Given the description of an element on the screen output the (x, y) to click on. 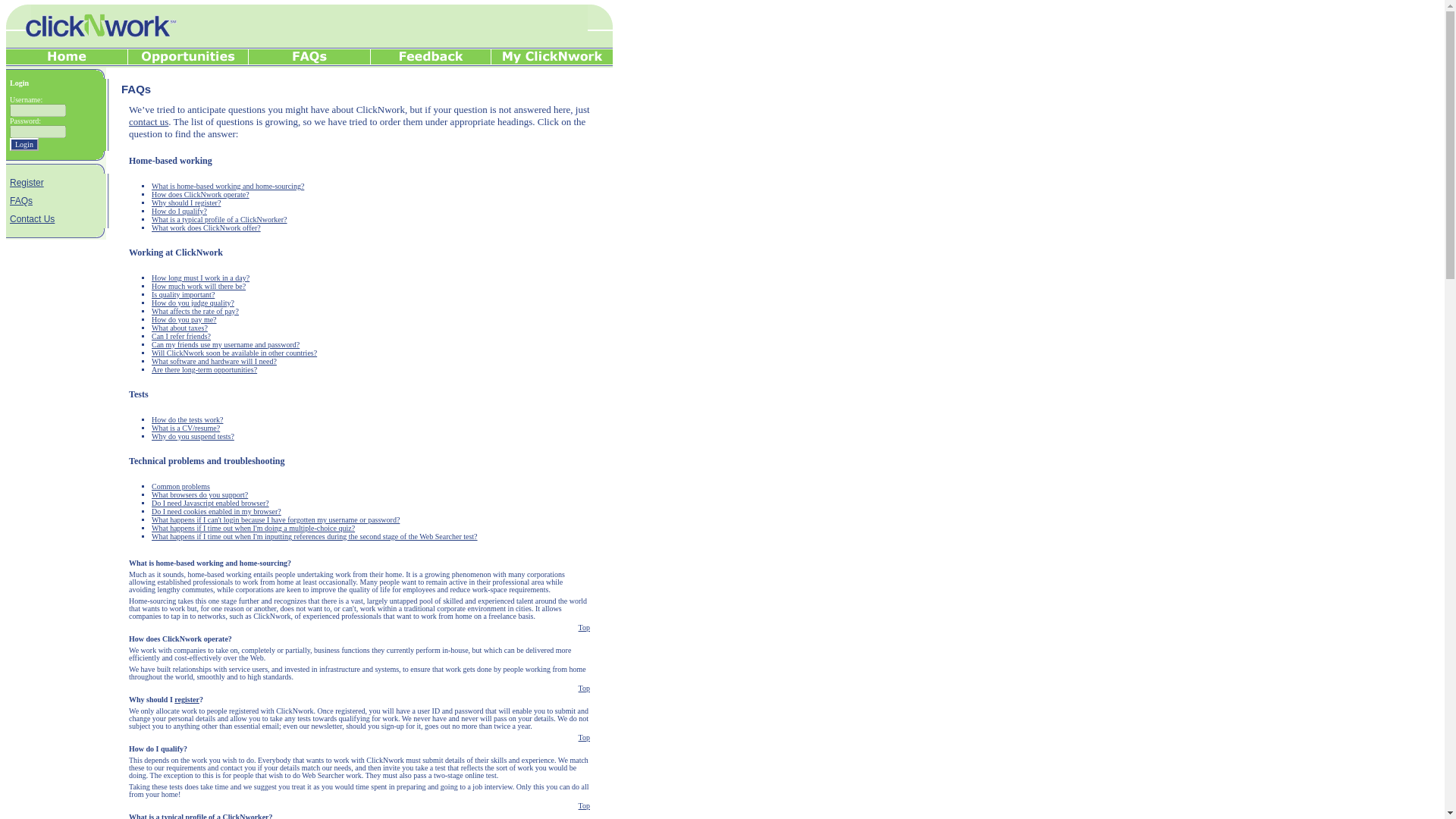
FAQs (135, 88)
Login (24, 144)
contact us (148, 121)
Why do you suspend tests? (192, 436)
Common problems (180, 486)
What is a typical profile of a ClickNworker? (218, 219)
What is home-based working and home-sourcing? (227, 185)
What software and hardware will I need? (213, 361)
